Given the description of an element on the screen output the (x, y) to click on. 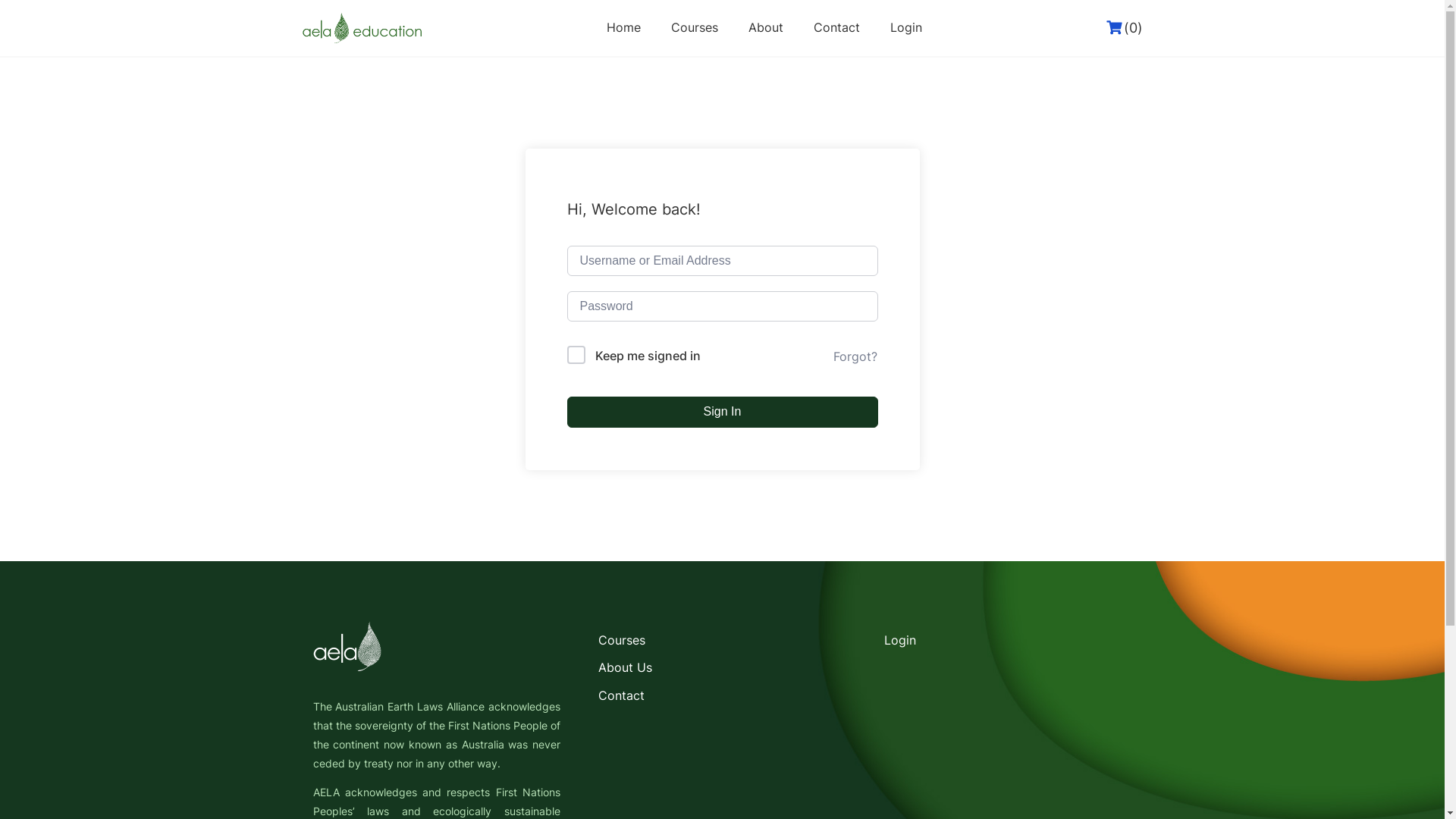
Courses Element type: text (621, 639)
Courses Element type: text (694, 27)
Sign In Element type: text (722, 411)
Forgot? Element type: text (855, 356)
About Element type: text (765, 27)
Login Element type: text (905, 27)
Login Element type: text (900, 639)
Contact Element type: text (621, 694)
(0) Element type: text (1124, 27)
Home Element type: text (623, 27)
Contact Element type: text (836, 27)
About Us Element type: text (625, 666)
